Given the description of an element on the screen output the (x, y) to click on. 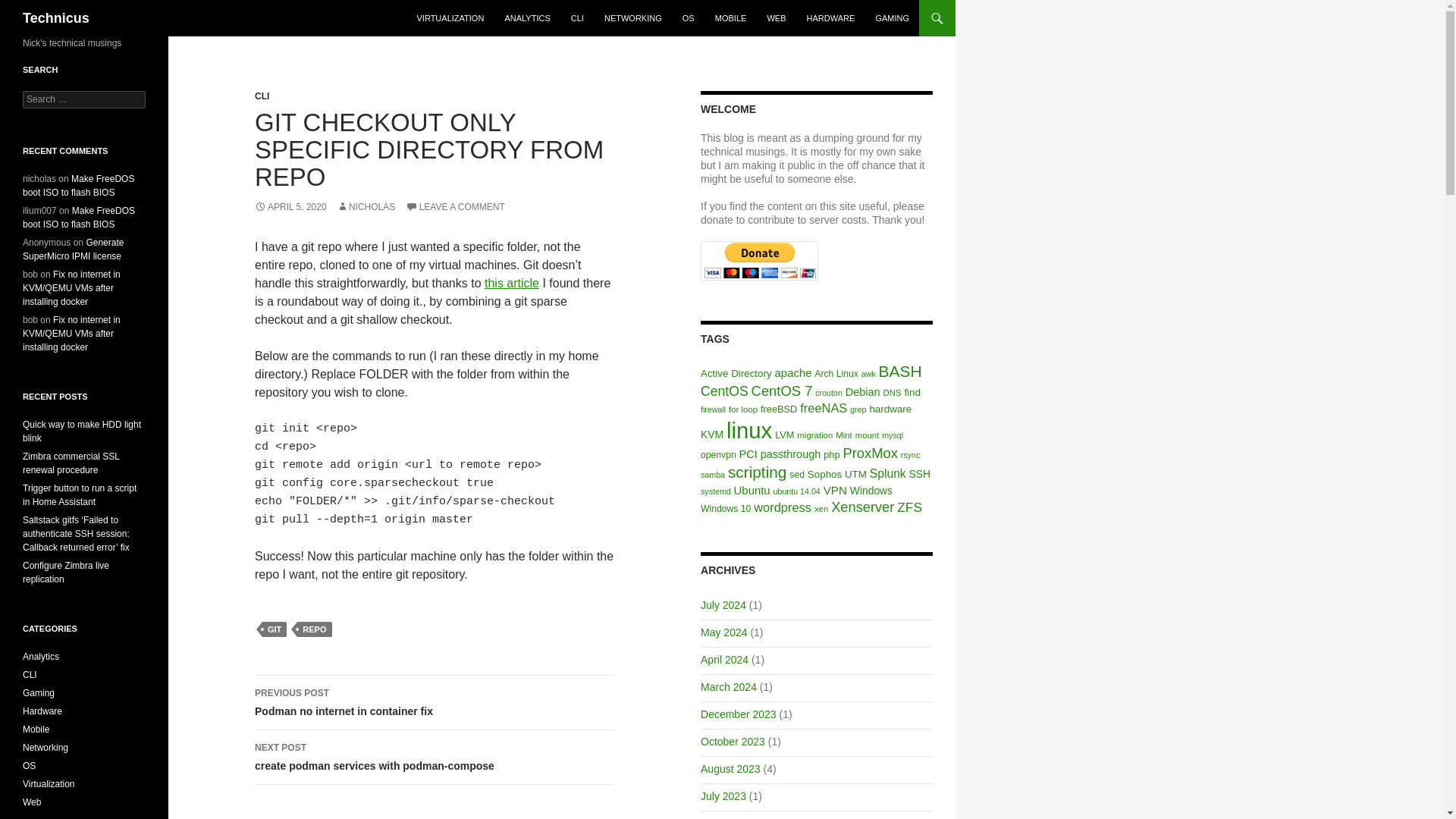
Active Directory (735, 373)
CentOS 7 (781, 390)
CentOS (724, 391)
VIRTUALIZATION (450, 18)
firewall (712, 409)
GIT (274, 629)
awk (868, 373)
WEB (775, 18)
NETWORKING (633, 18)
BASH (900, 371)
